Given the description of an element on the screen output the (x, y) to click on. 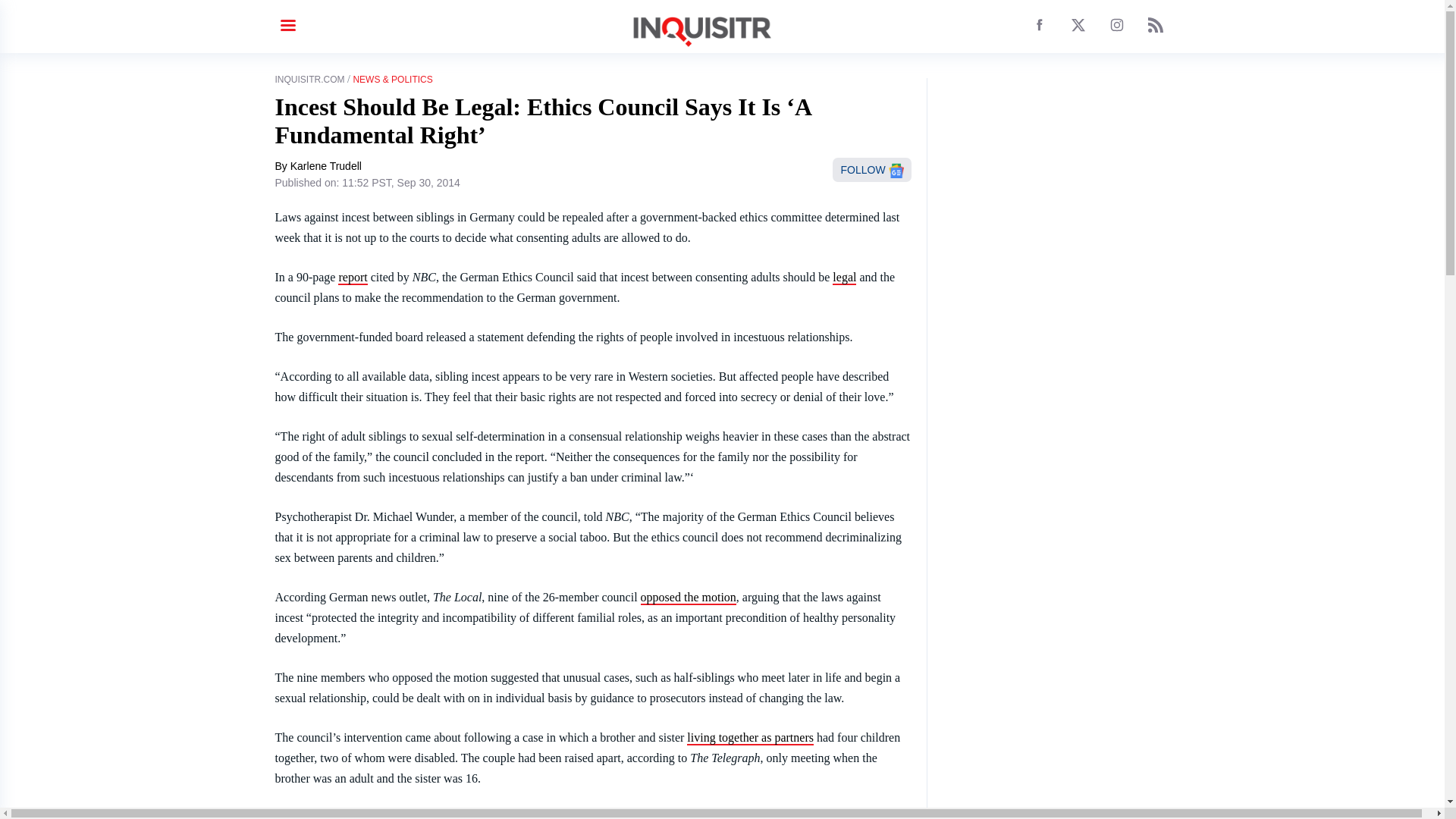
INQUISITR.COM (309, 79)
Incest a 'fundamental right', German committee says (750, 738)
'Incest should be legal,' says ethics board (688, 597)
